Given the description of an element on the screen output the (x, y) to click on. 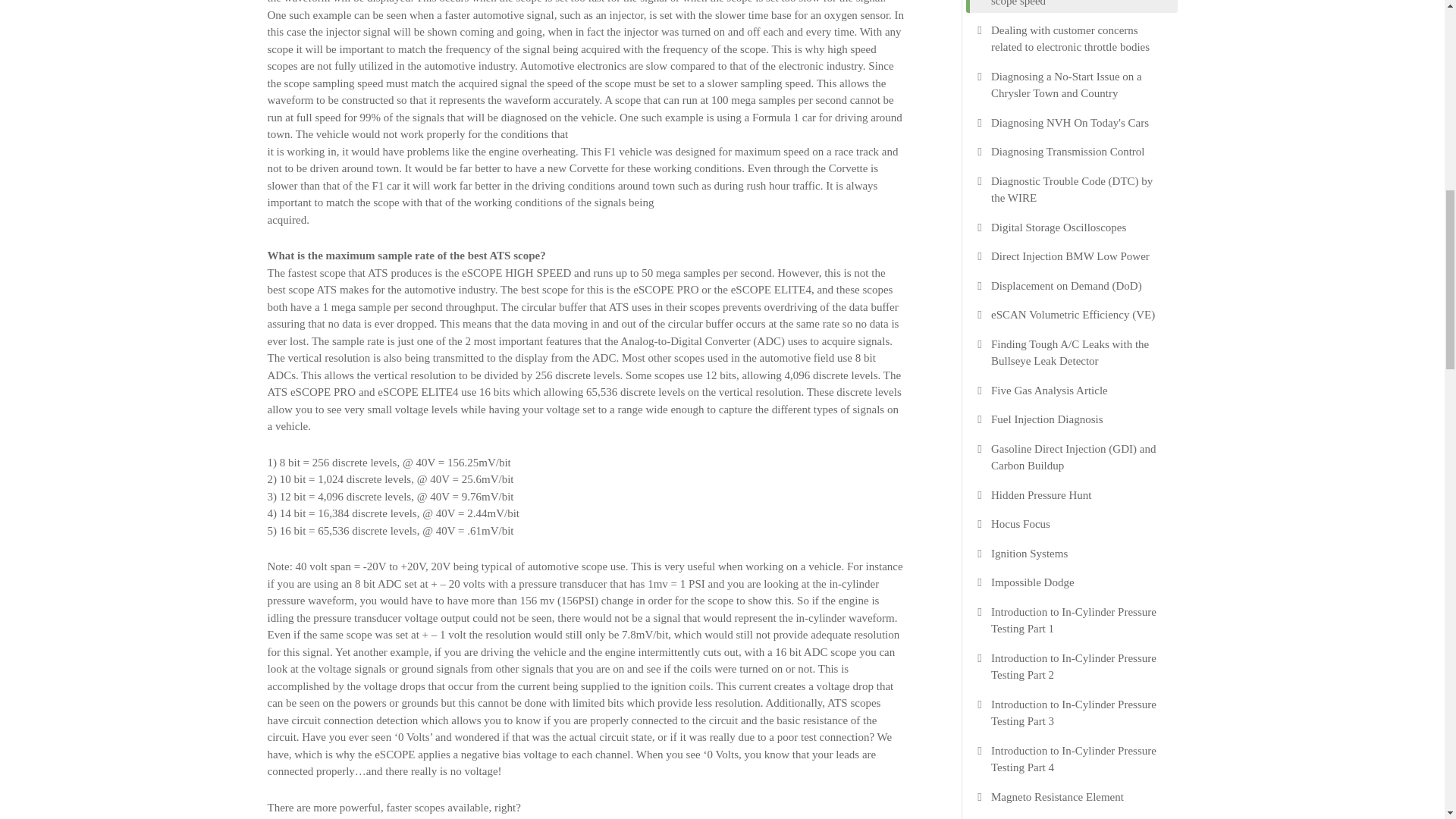
Diagnosing a No-Start Issue on a Chrysler Town and Country (1077, 84)
Digital Storage Oscilloscopes (1058, 226)
Diagnosing NVH On Today's Cars (1069, 122)
Diagnosing Transmission Control (1067, 151)
Common questions asked about scope speed (1077, 4)
